Given the description of an element on the screen output the (x, y) to click on. 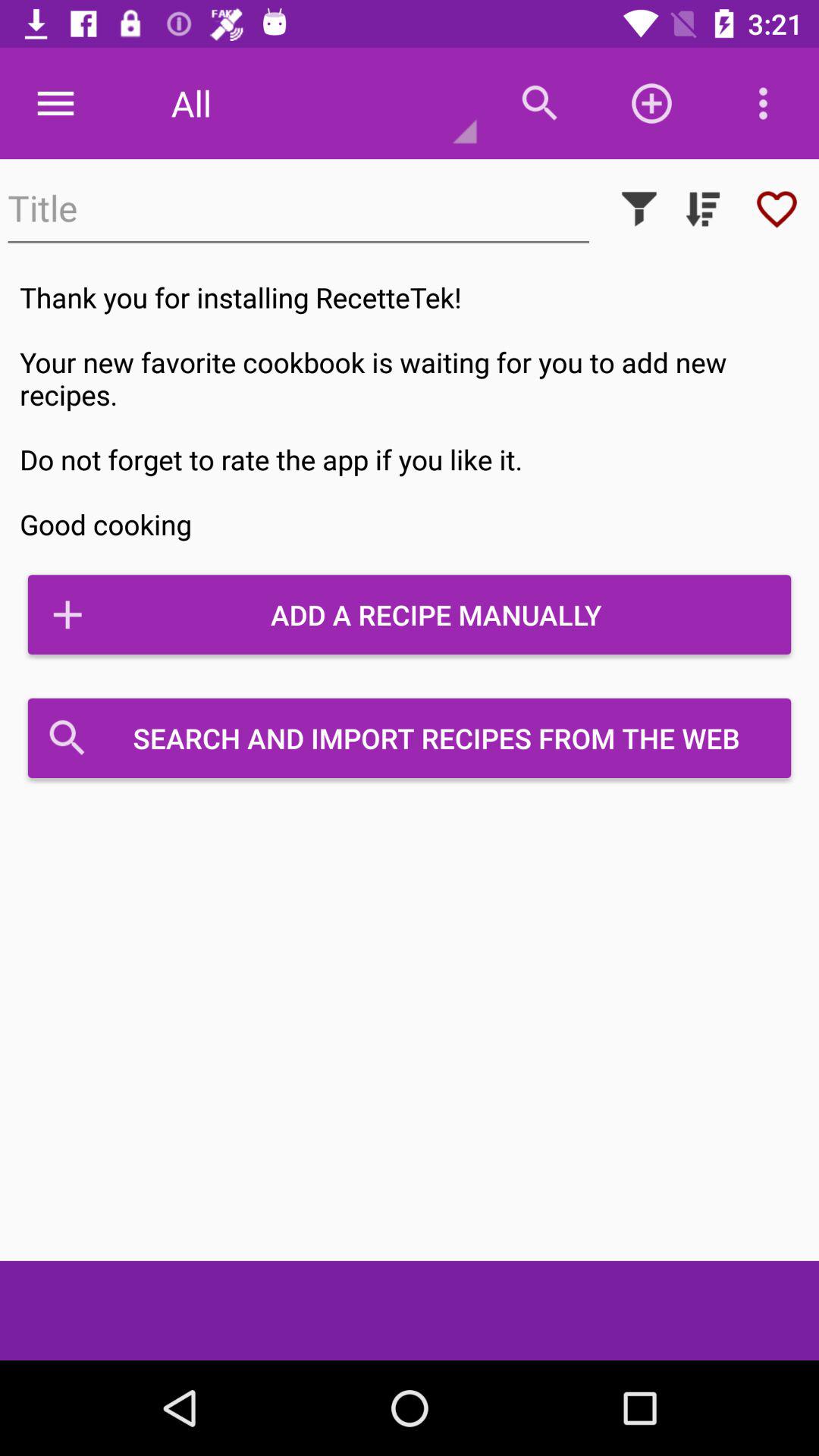
swipe until the search and import icon (409, 737)
